Given the description of an element on the screen output the (x, y) to click on. 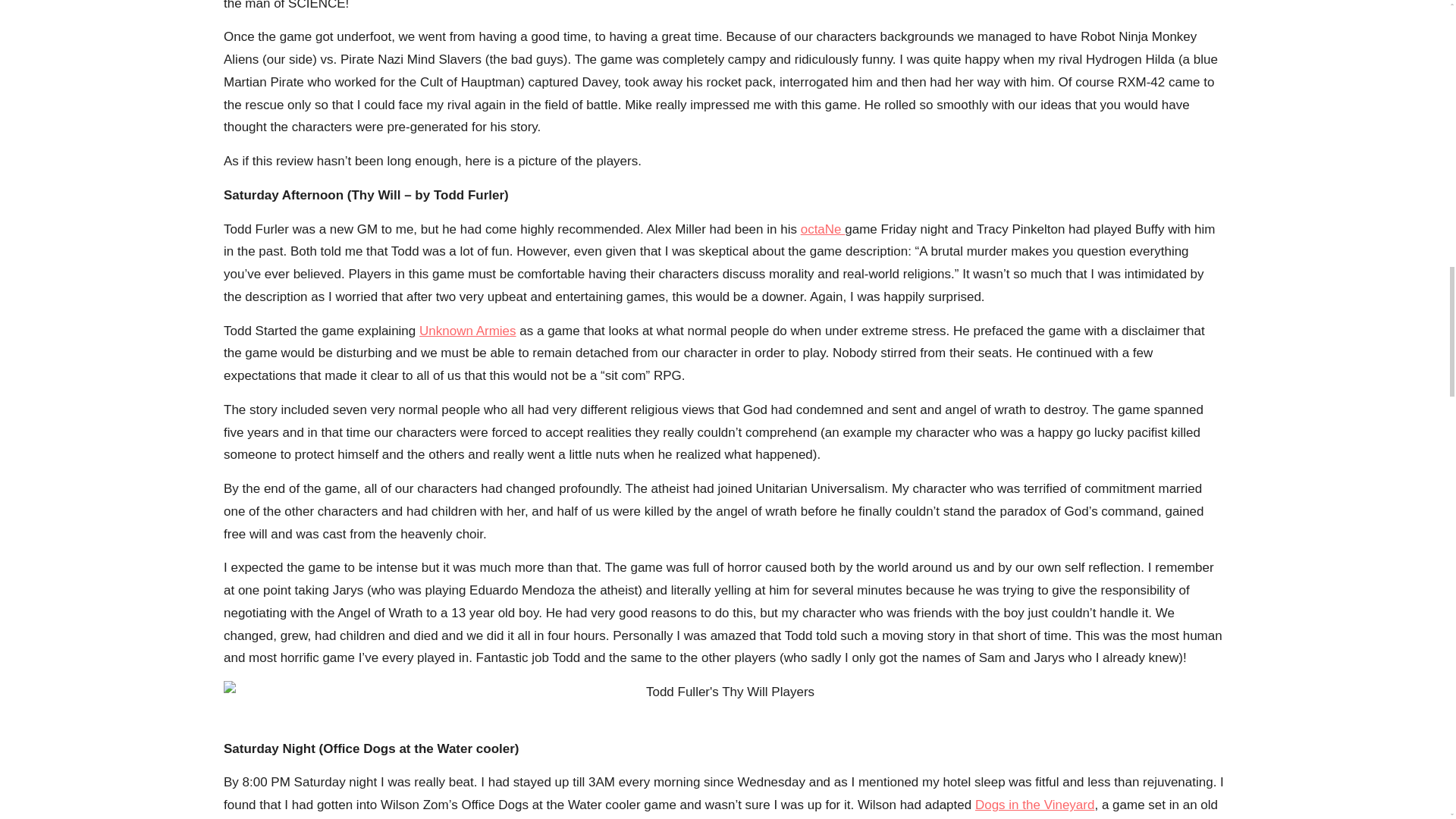
octaNe (822, 228)
Dogs in the Vineyard (1034, 804)
Unknown Armies (467, 330)
